Given the description of an element on the screen output the (x, y) to click on. 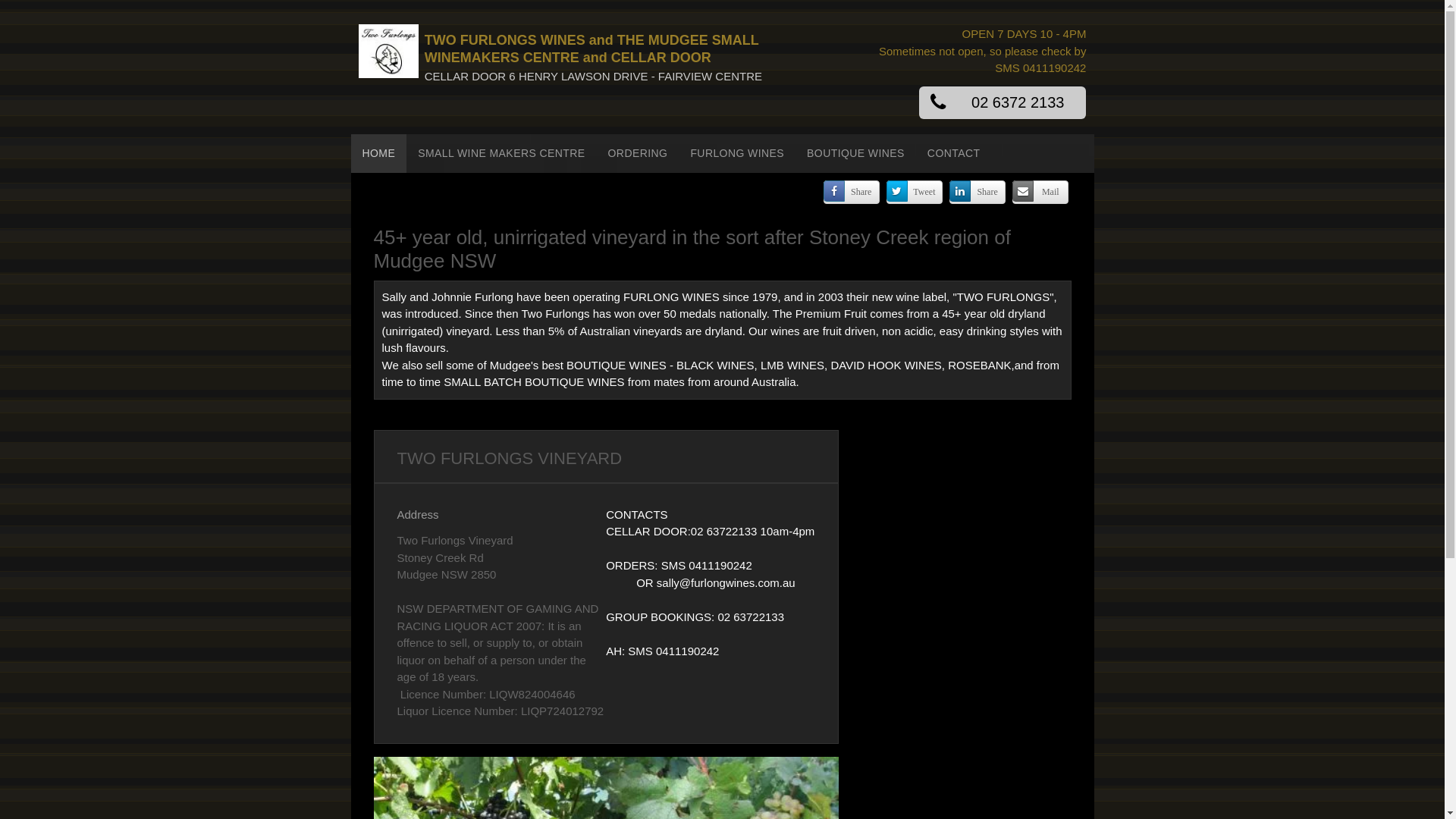
02 6372 2133 Element type: text (1002, 102)
ORDERING Element type: text (637, 152)
SMALL WINE MAKERS CENTRE Element type: text (501, 152)
HOME Element type: text (378, 152)
BOUTIQUE WINES Element type: text (855, 152)
Logo Element type: hover (387, 51)
CONTACT Element type: text (953, 152)
FURLONG WINES Element type: text (736, 152)
